Given the description of an element on the screen output the (x, y) to click on. 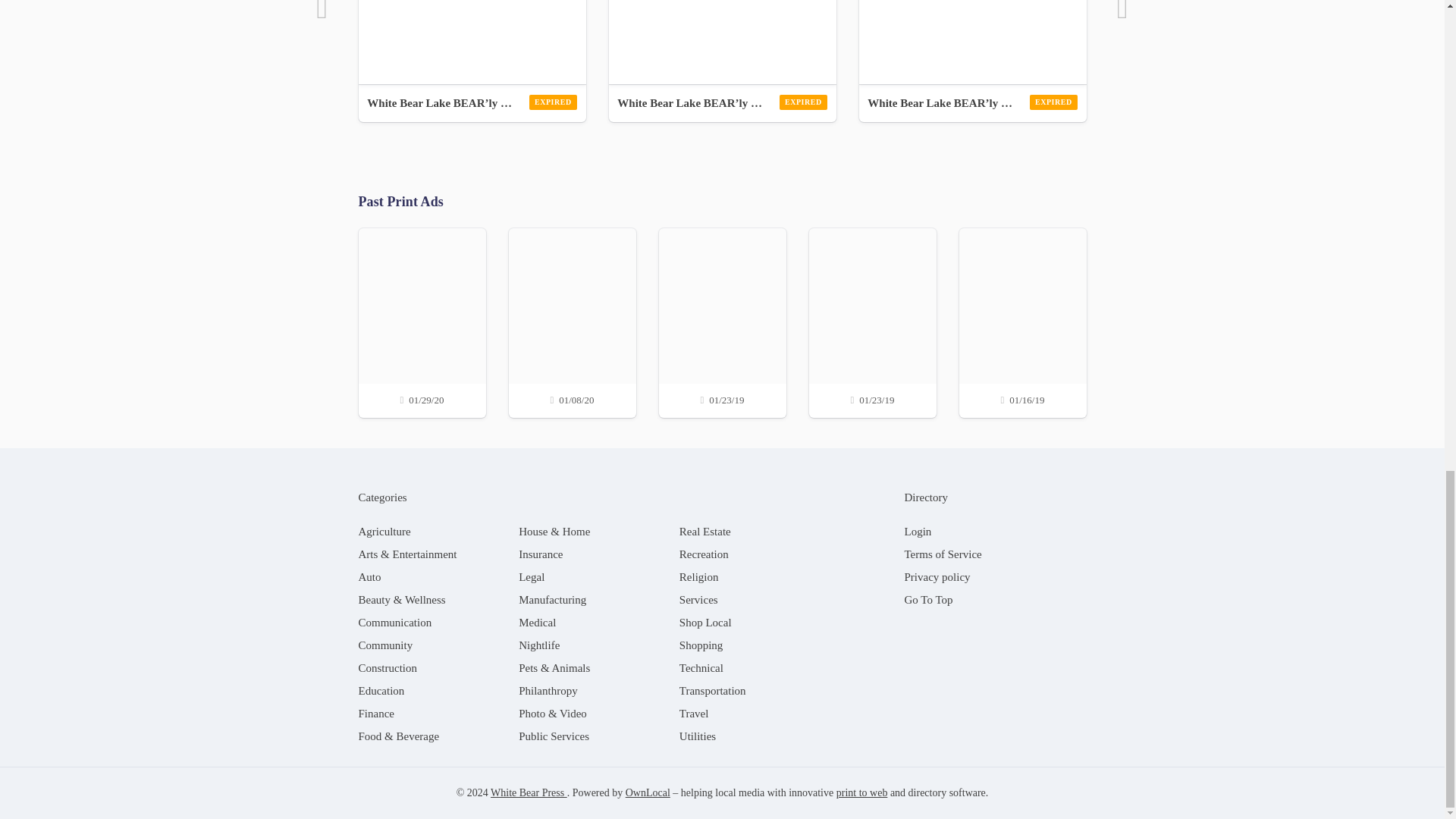
Communication (394, 622)
Community (385, 645)
Finance (375, 713)
Origami Widget Number: 794563 (721, 42)
Origami Widget Number: 393749 (972, 42)
Education (381, 690)
Agriculture (384, 531)
Auto (369, 576)
Construction (387, 667)
Origami Widget Number: 812311 (471, 42)
